Given the description of an element on the screen output the (x, y) to click on. 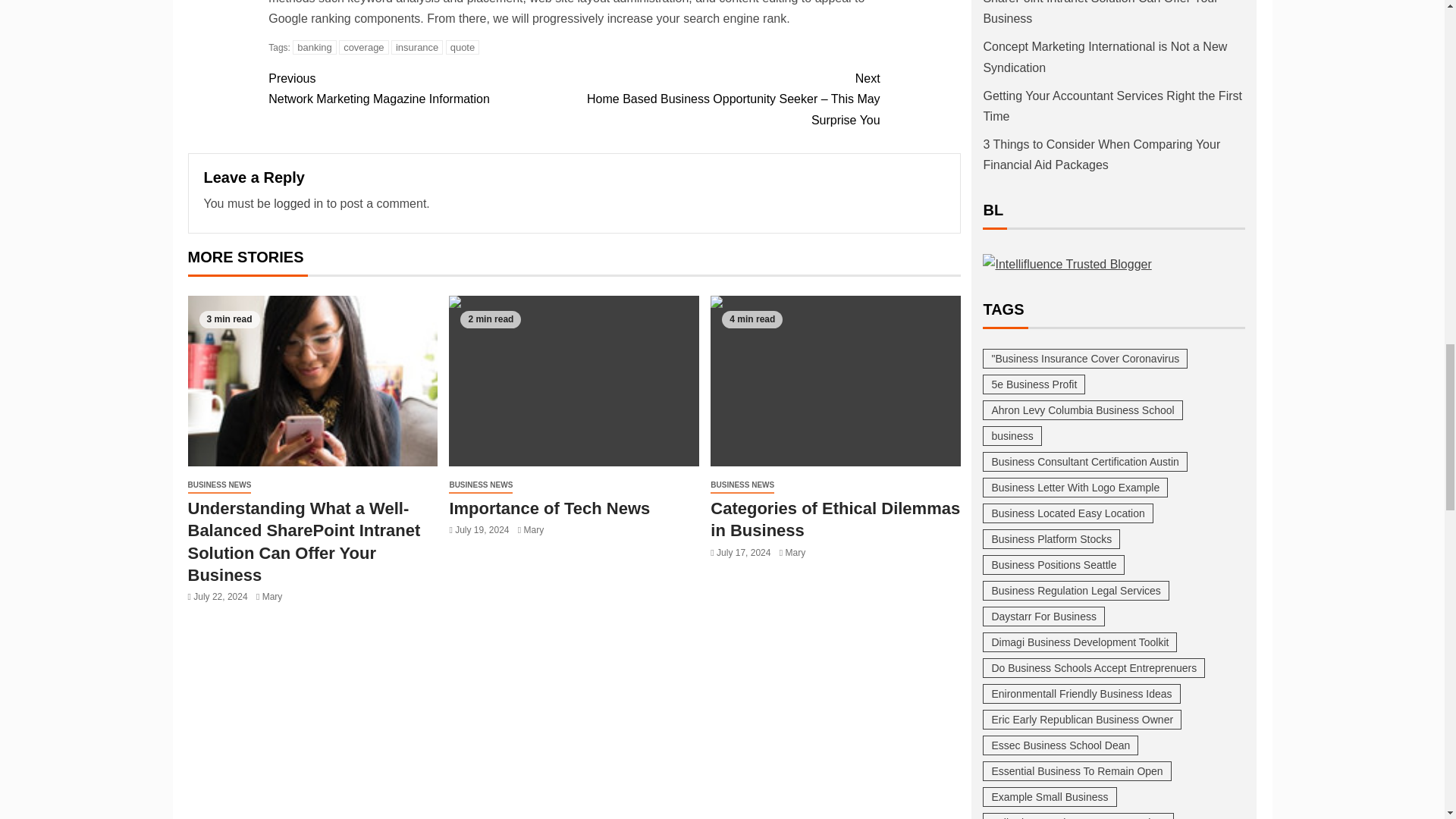
quote (462, 47)
logged in (298, 203)
Mary (272, 596)
Importance of Tech News (573, 380)
insurance (416, 47)
BUSINESS NEWS (219, 485)
coverage (420, 87)
banking (363, 47)
Categories of Ethical Dilemmas in Business (314, 47)
